Given the description of an element on the screen output the (x, y) to click on. 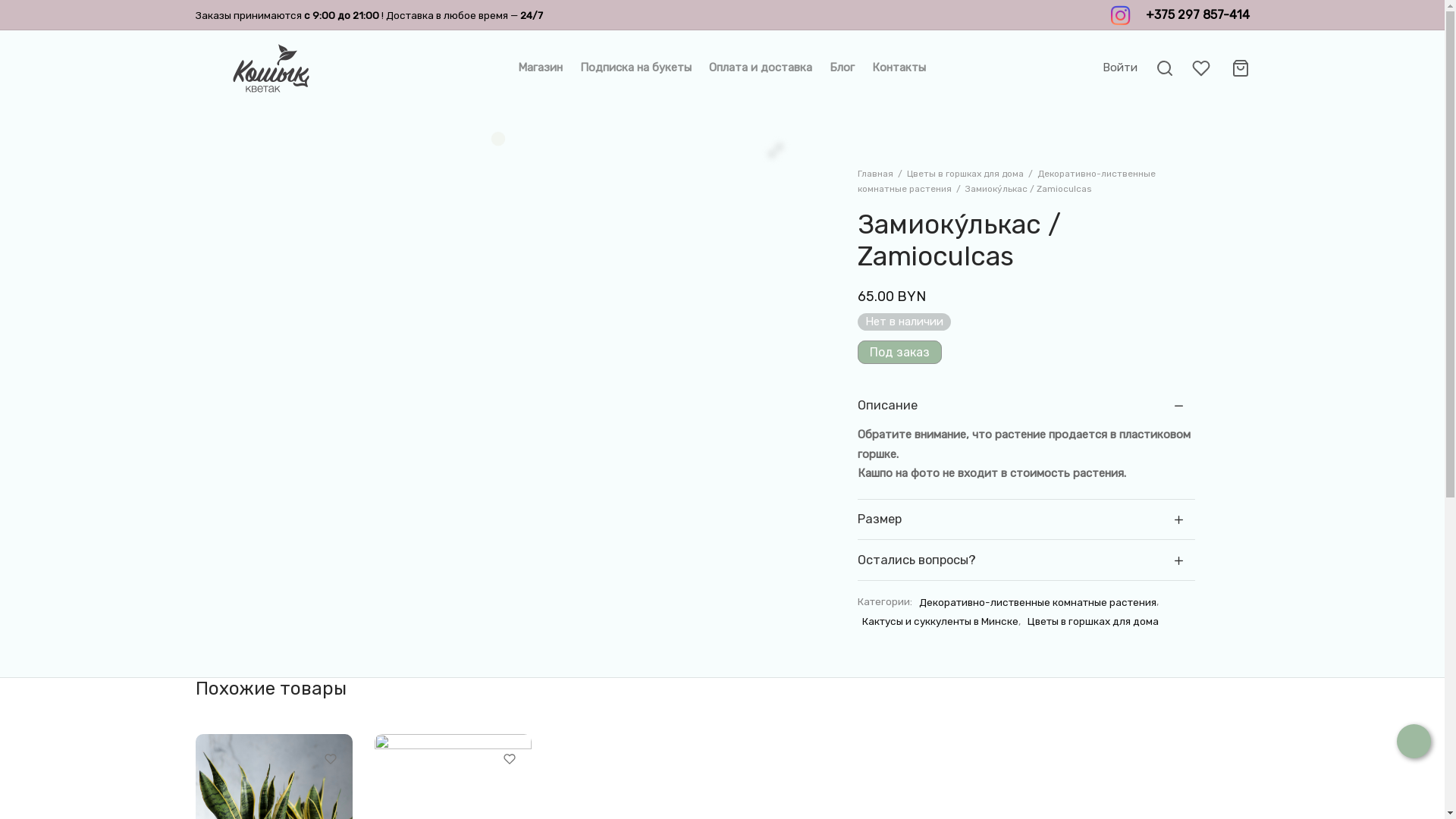
IMG_7169 Element type: hover (535, 288)
+375 297 857-414 Element type: text (1196, 15)
